Given the description of an element on the screen output the (x, y) to click on. 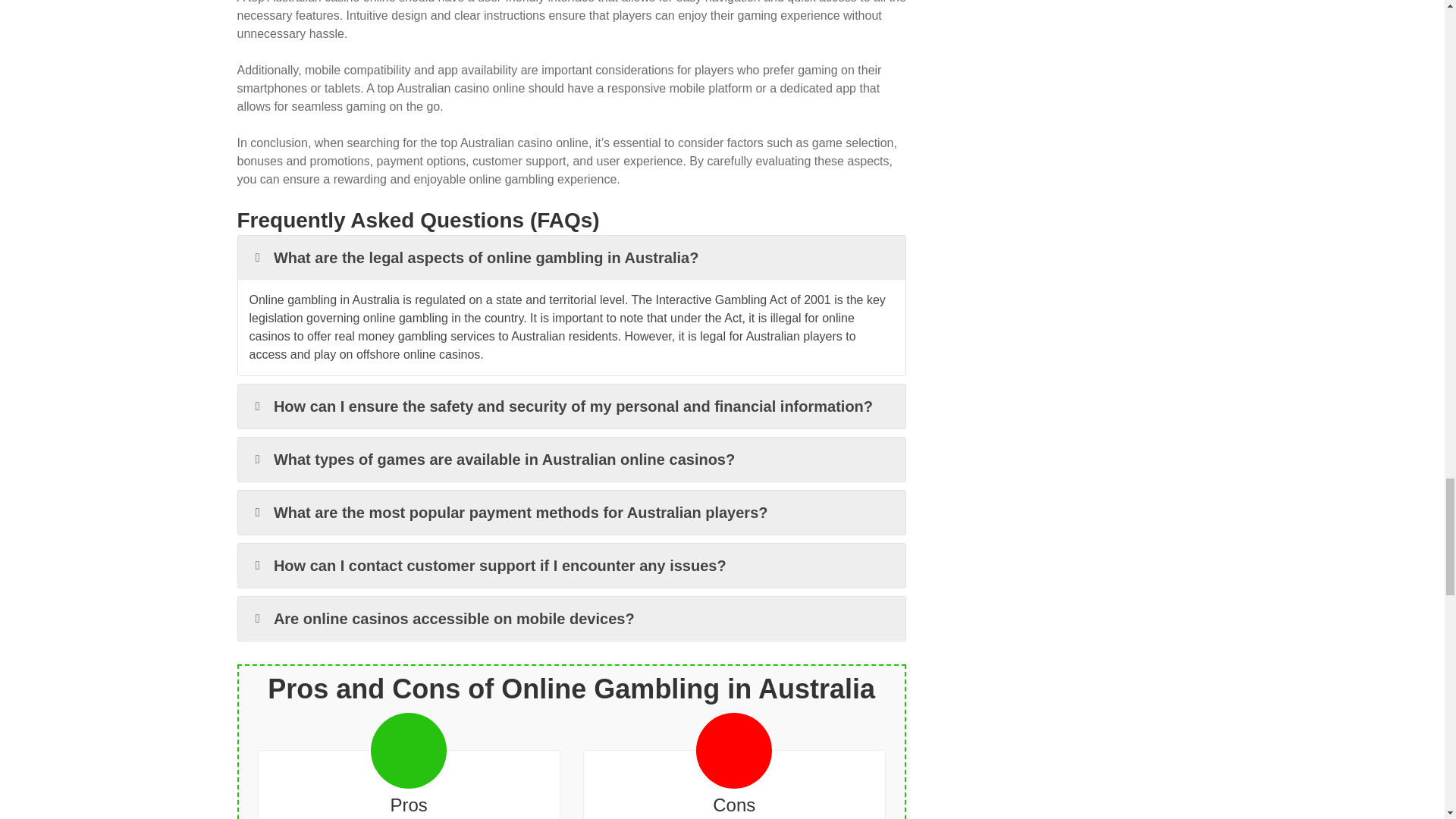
Are online casinos accessible on mobile devices? (571, 618)
What are the legal aspects of online gambling in Australia? (571, 257)
